Given the description of an element on the screen output the (x, y) to click on. 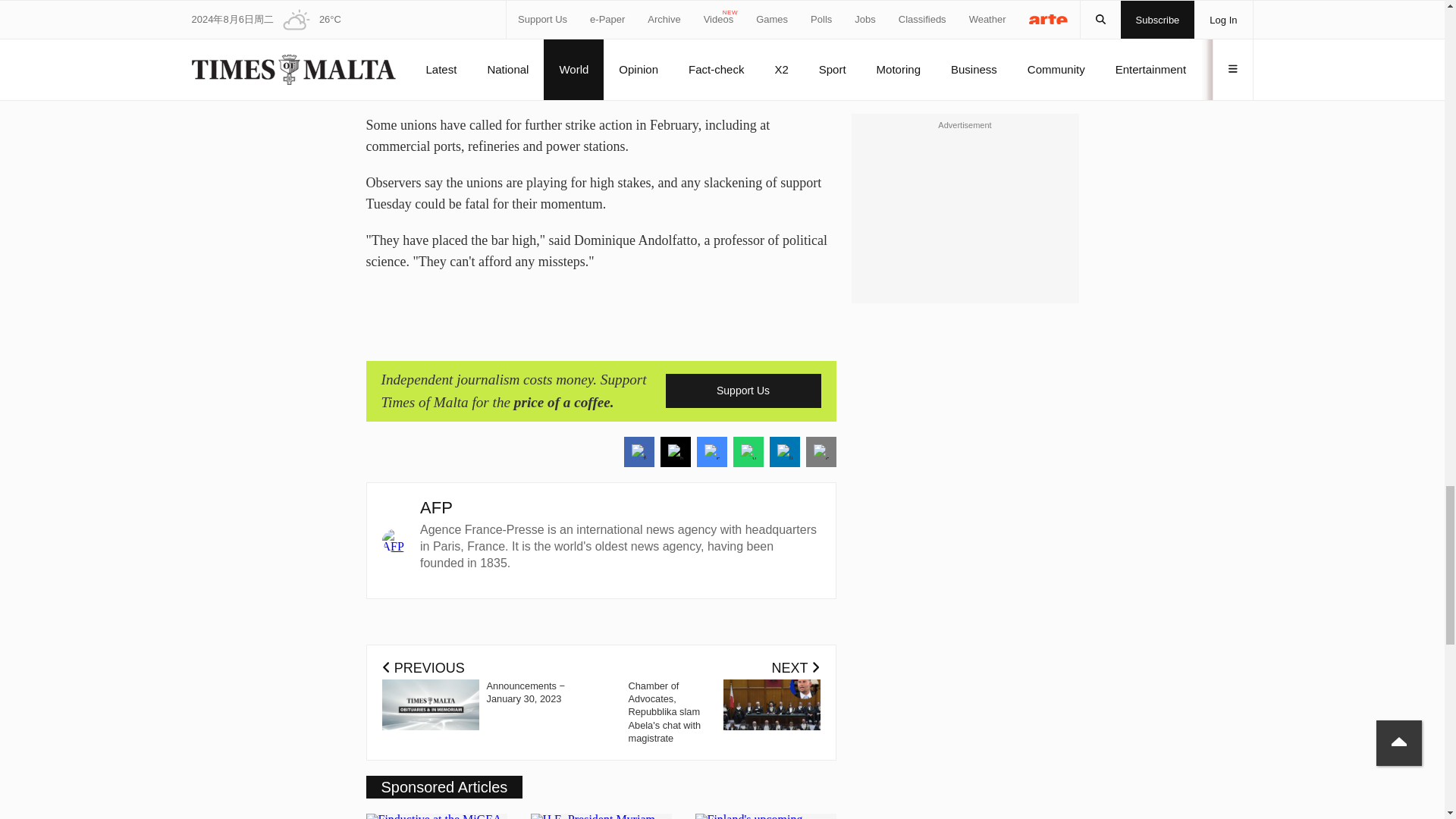
Support Us (743, 390)
AFP (436, 506)
